Given the description of an element on the screen output the (x, y) to click on. 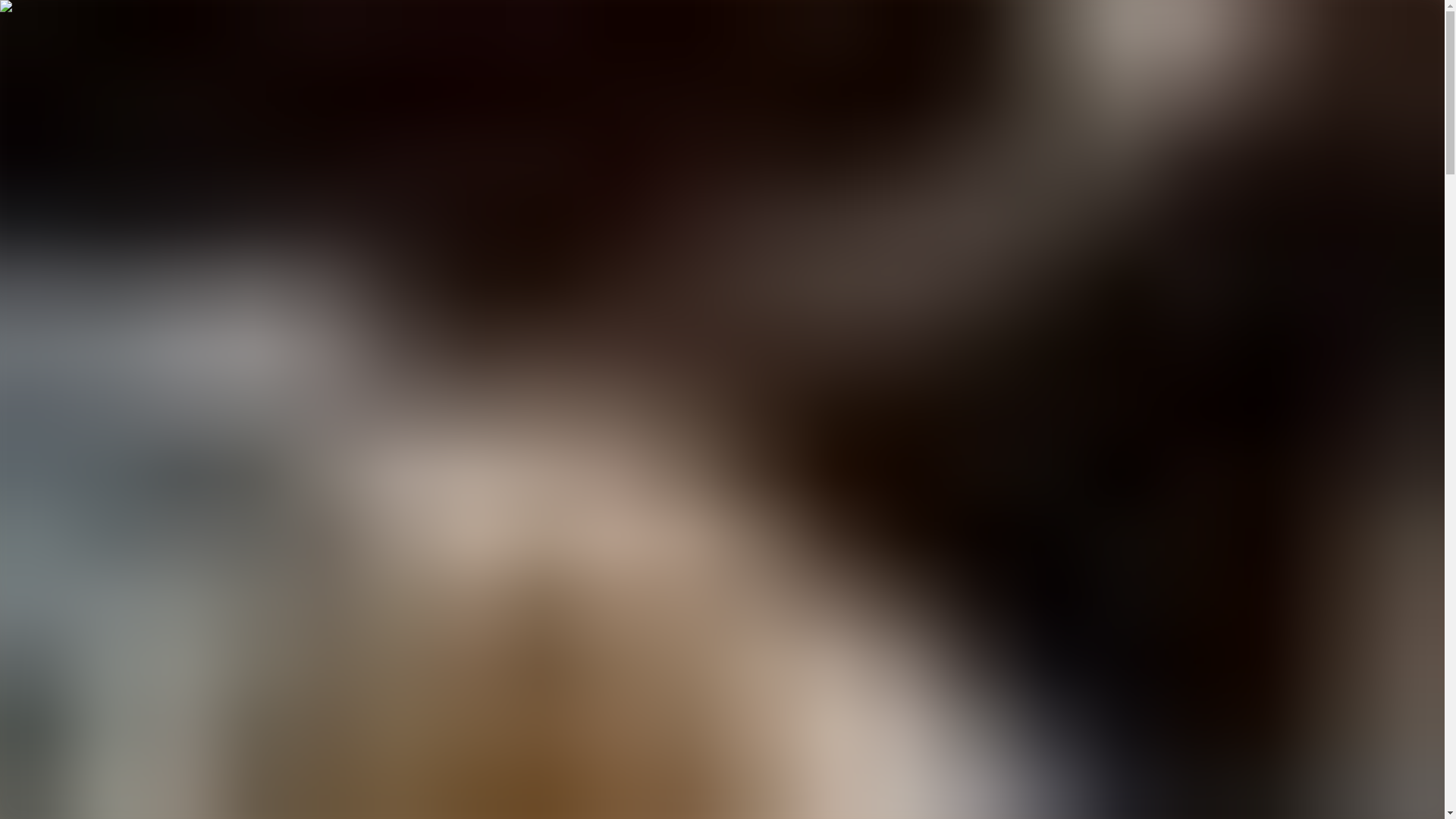
Whiskey Workshop (802, 763)
Shop (48, 283)
5-Day Rum Course (900, 528)
Skip to Content (43, 11)
Contact Us (69, 336)
Explore Our Beverage Campus (119, 54)
Services (67, 249)
About Us (68, 268)
Fermentation Workshop (650, 763)
Central Coast Distillery (556, 528)
